Given the description of an element on the screen output the (x, y) to click on. 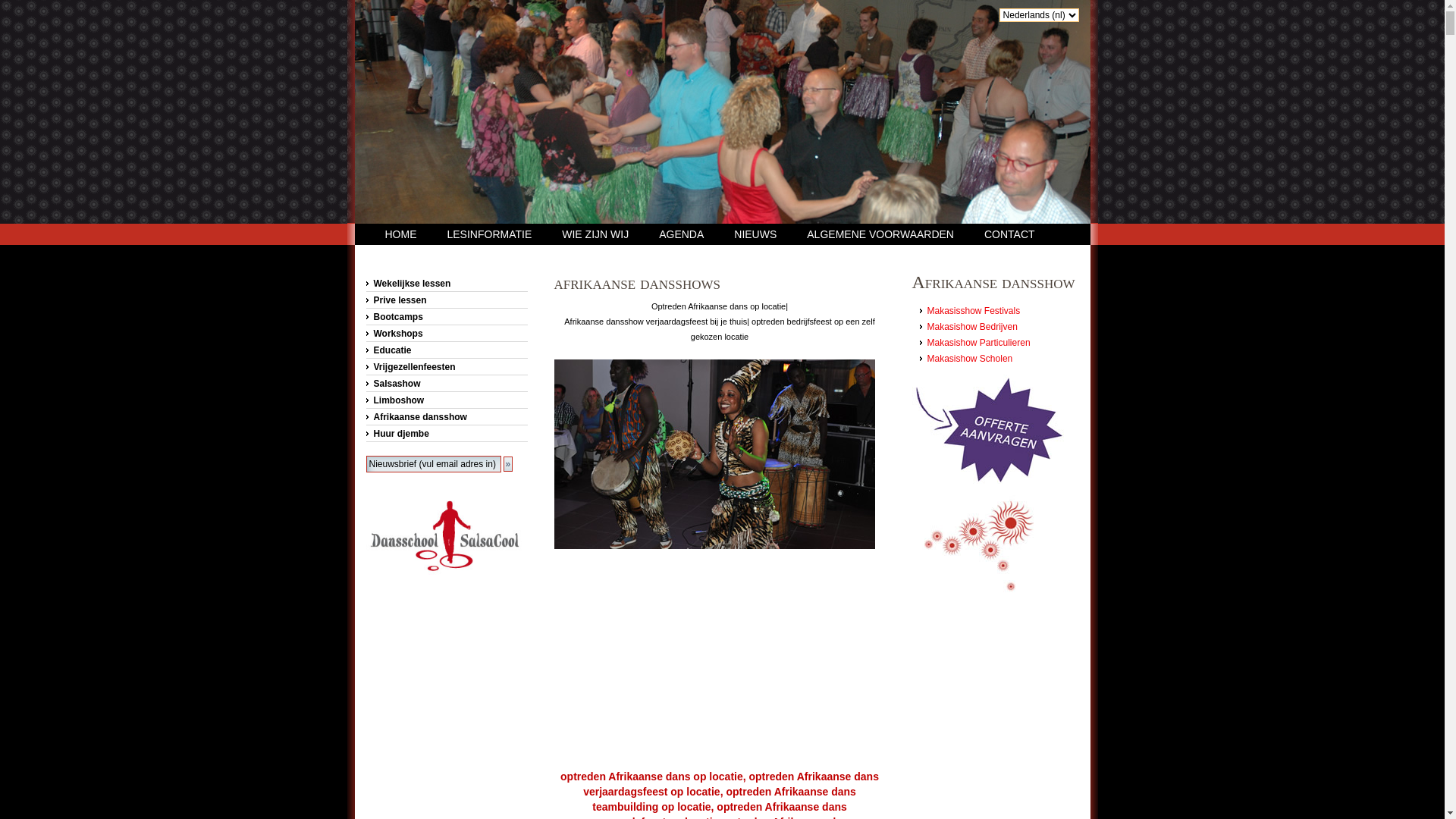
Workshops Element type: text (446, 333)
Bootcamps Element type: text (446, 316)
Educatie Element type: text (446, 350)
WIE ZIJN WIJ Element type: text (594, 234)
Prive lessen Element type: text (446, 299)
LESINFORMATIE Element type: text (489, 234)
CONTACT Element type: text (1009, 234)
HOME Element type: text (401, 234)
Makasishow Particulieren Element type: text (977, 342)
Makasisshow Festivals Element type: text (972, 310)
Makasishow Bedrijven Element type: text (971, 326)
AGENDA Element type: text (680, 234)
Huur djembe Element type: text (446, 433)
Wekelijkse lessen Element type: text (446, 283)
ALGEMENE VOORWAARDEN Element type: text (879, 234)
  Element type: text (448, 56)
Afrikaanse dansshow Element type: text (446, 416)
Limboshow Element type: text (446, 400)
Vrijgezellenfeesten Element type: text (446, 366)
Makasishow Scholen Element type: text (969, 358)
NIEUWS Element type: text (755, 234)
Salsashow Element type: text (446, 383)
